Given the description of an element on the screen output the (x, y) to click on. 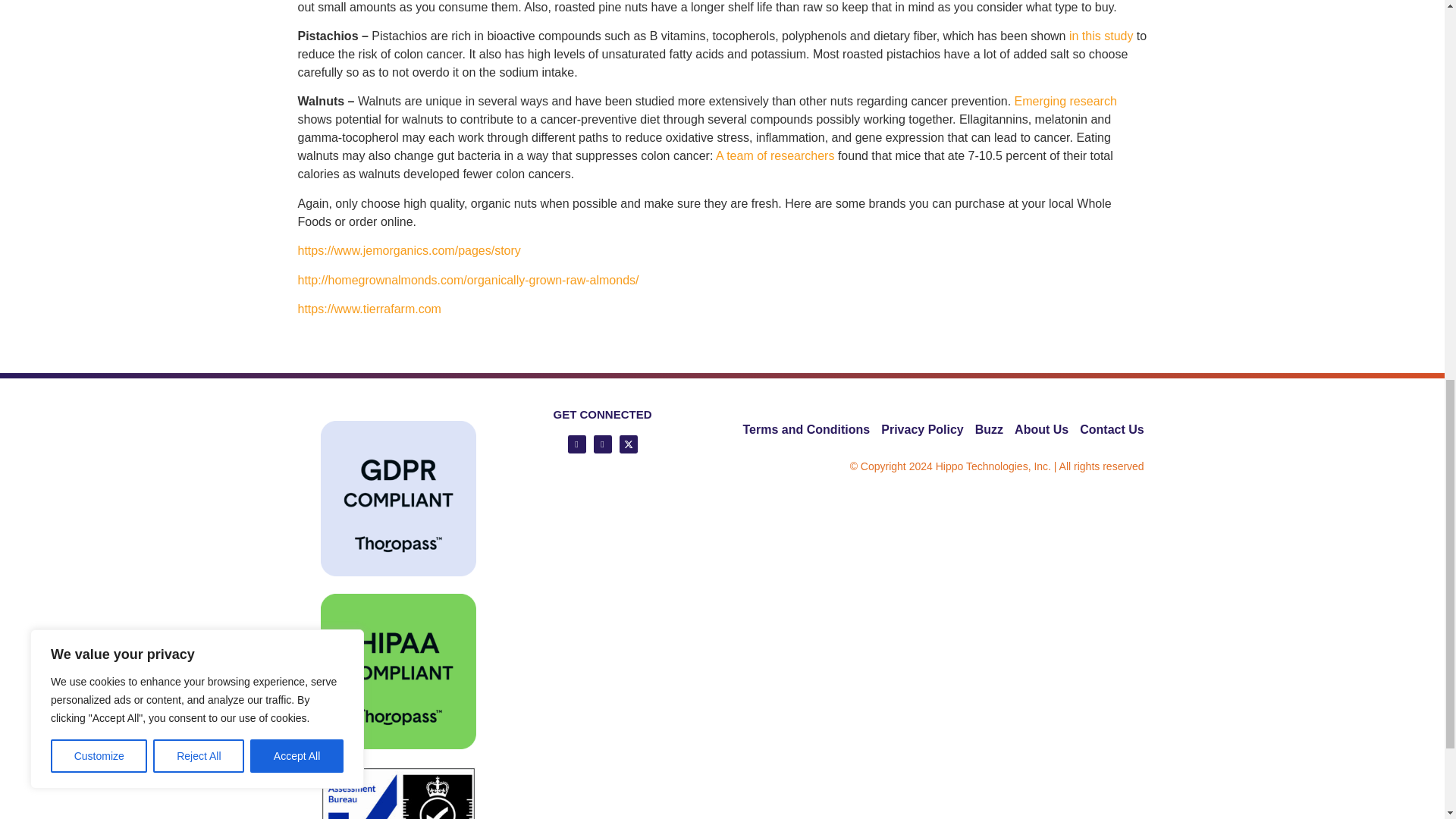
A team of researchers (775, 155)
in this study (1100, 35)
Emerging research (1065, 101)
